Given the description of an element on the screen output the (x, y) to click on. 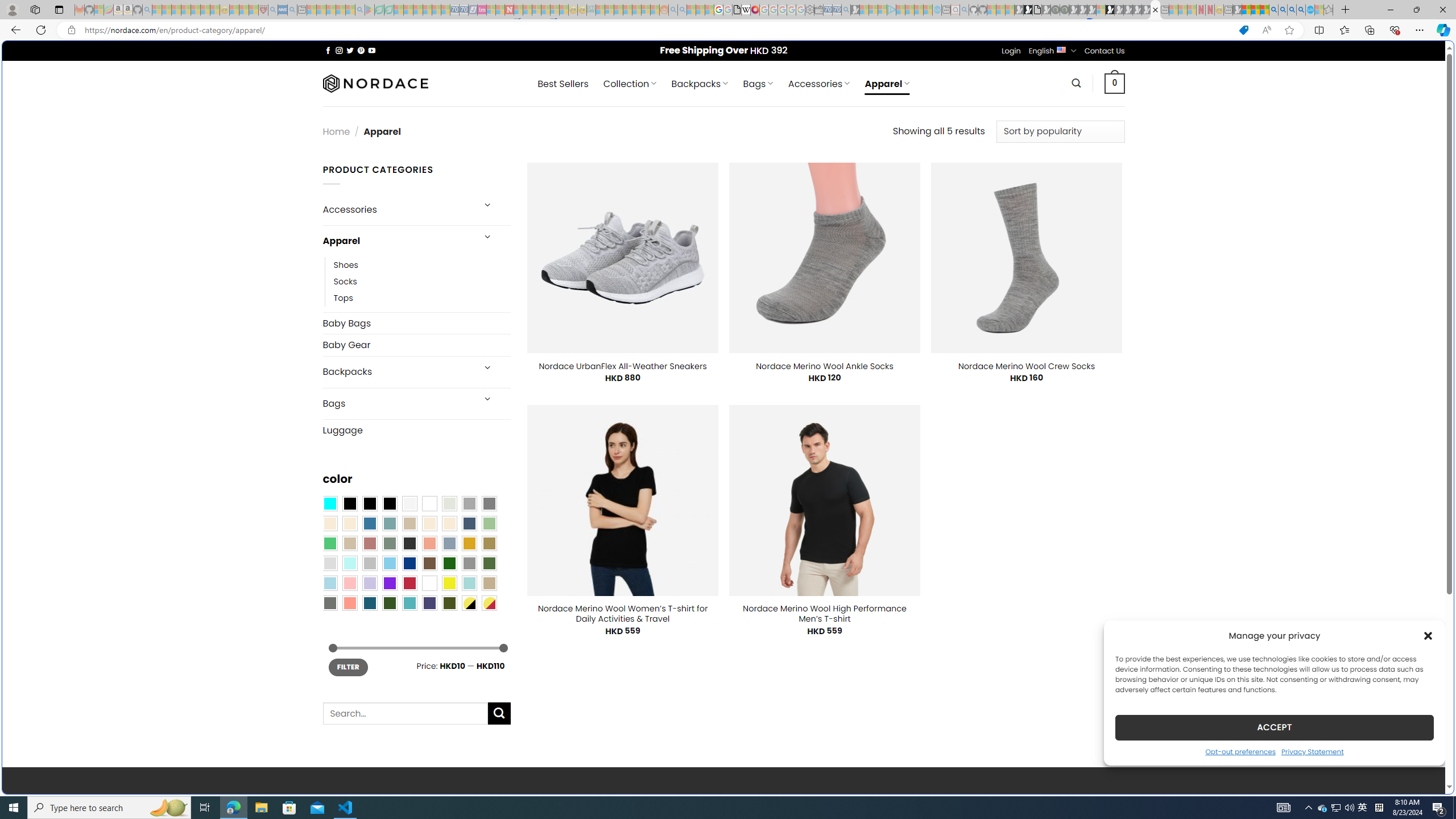
Army Green (449, 602)
Green (488, 562)
Rose (369, 542)
Nordace UrbanFlex All-Weather Sneakers (622, 365)
Dark Green (449, 562)
Blue (369, 522)
Socks (422, 280)
Bing AI - Search (1272, 9)
New Report Confirms 2023 Was Record Hot | Watch - Sleeping (195, 9)
